Given the description of an element on the screen output the (x, y) to click on. 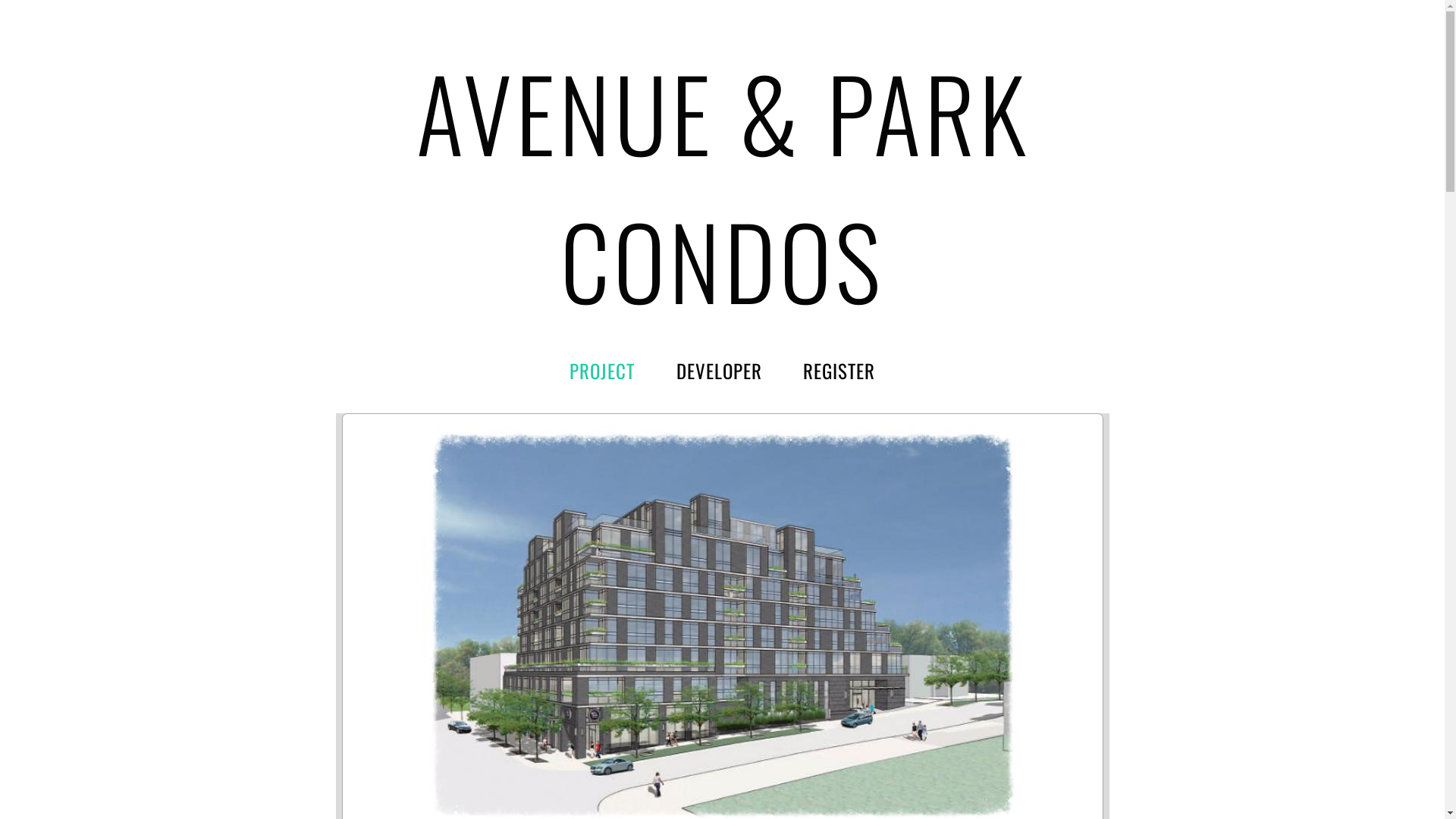
REGISTER Element type: text (839, 370)
DEVELOPER Element type: text (719, 370)
PROJECT Element type: text (601, 370)
AVENUE & PARK CONDOS Element type: text (721, 185)
